Given the description of an element on the screen output the (x, y) to click on. 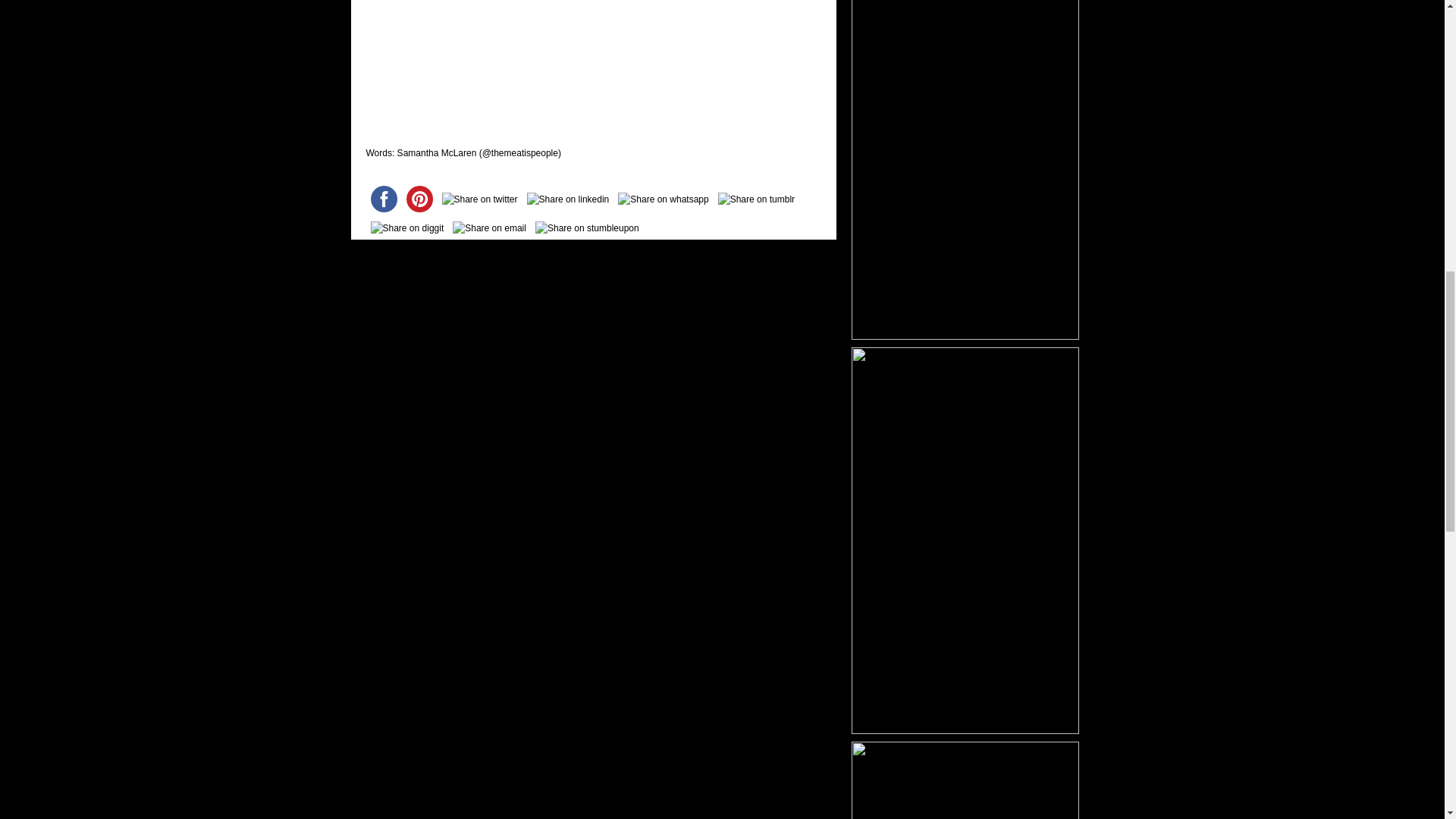
email (489, 228)
tumblr (756, 199)
twitter (478, 199)
diggit (406, 228)
facebook (383, 198)
stumbleupon (587, 228)
linkedin (568, 199)
whatsapp (662, 199)
pinterest (419, 198)
